Given the description of an element on the screen output the (x, y) to click on. 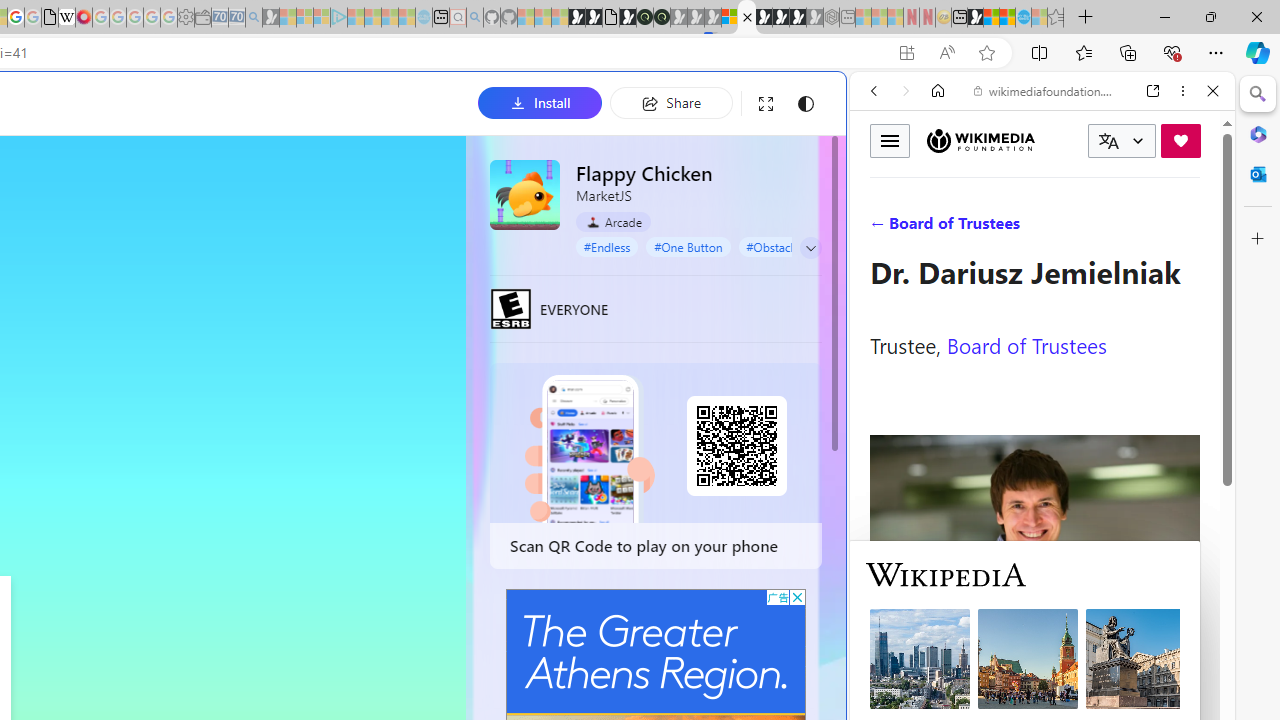
Search or enter web address (343, 191)
Microsoft account | Privacy - Sleeping (321, 17)
Close Customize pane (1258, 239)
Class: control (811, 248)
Class: i icon icon-translate language-switcher__icon (1108, 141)
Frequently visited (418, 265)
IMAGES (939, 228)
Cheap Car Rentals - Save70.com - Sleeping (236, 17)
